Given the description of an element on the screen output the (x, y) to click on. 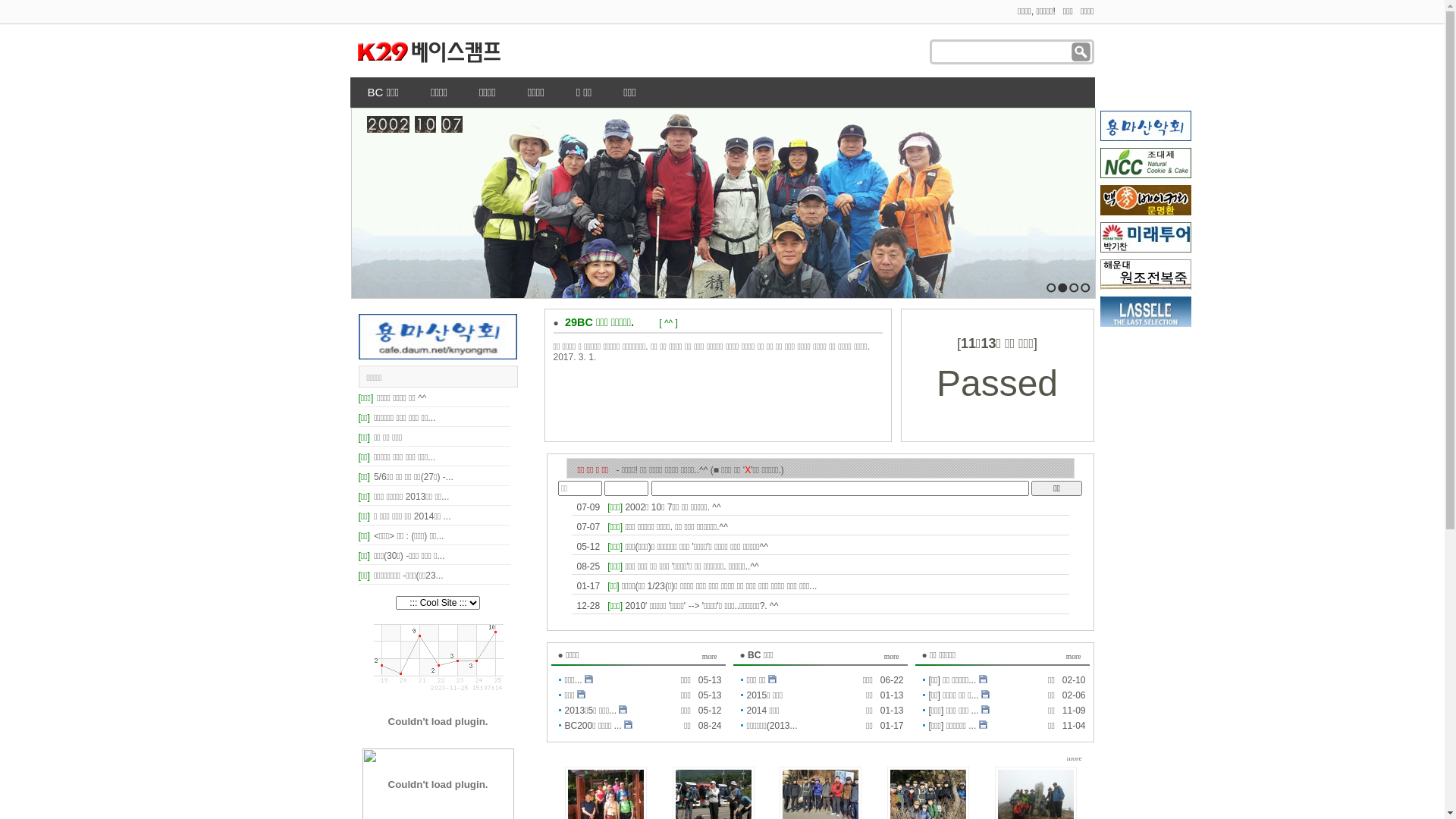
more Element type: text (1074, 757)
file Element type: hover (581, 694)
file Element type: hover (622, 709)
file Element type: hover (983, 678)
file Element type: hover (983, 724)
3 Element type: text (1074, 287)
file Element type: hover (588, 678)
file Element type: hover (985, 694)
file Element type: hover (985, 709)
2 Element type: text (1061, 287)
more Element type: text (1073, 656)
keyword Element type: hover (1001, 51)
file Element type: hover (772, 678)
more Element type: text (709, 656)
more Element type: text (891, 656)
1 Element type: text (1051, 287)
file Element type: hover (628, 724)
4 Element type: text (1084, 287)
